Given the description of an element on the screen output the (x, y) to click on. 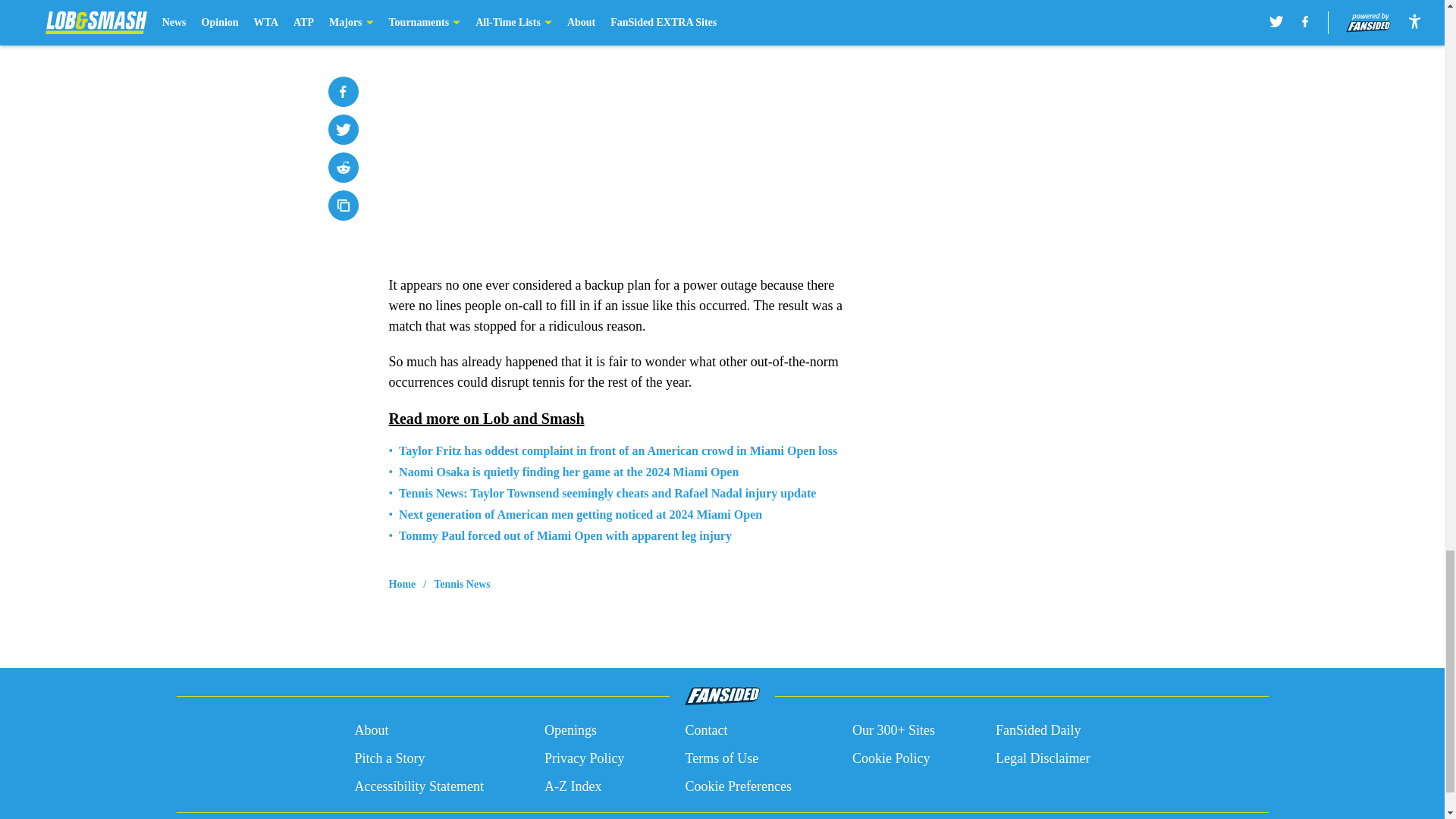
About (370, 730)
Tommy Paul forced out of Miami Open with apparent leg injury (565, 535)
Home (401, 584)
Tennis News (461, 584)
Openings (570, 730)
